Given the description of an element on the screen output the (x, y) to click on. 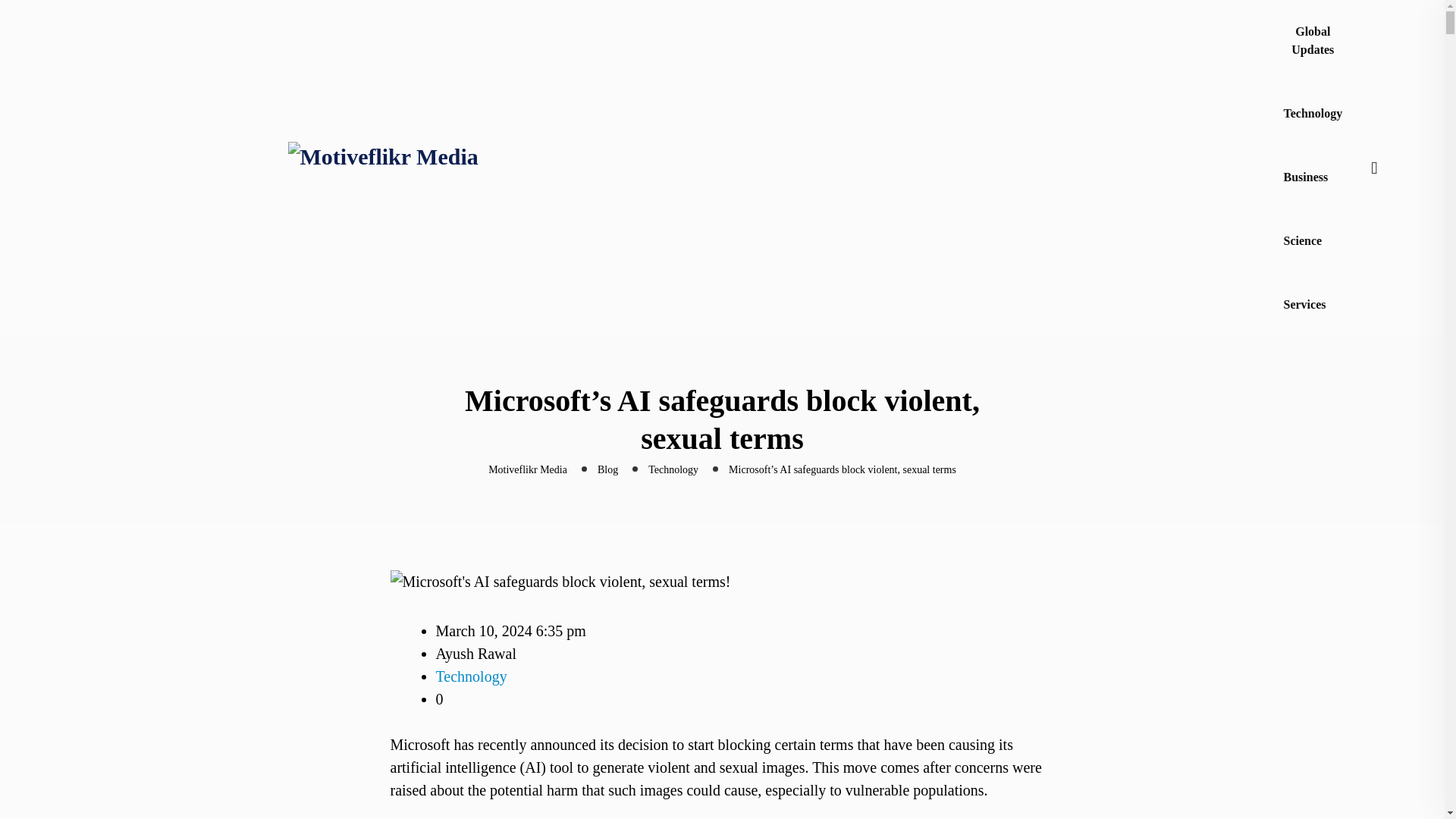
Technology (1313, 113)
Go to Motiveflikr Media. (527, 469)
Global Updates (1313, 40)
Business (1306, 177)
Technology (672, 469)
Microsoft's AI safeguards block violent, sexual terms (560, 581)
Technology (470, 676)
Services (1305, 304)
Go to the Technology Category archives. (672, 469)
Go to Blog. (606, 469)
Motiveflikr Media (527, 469)
Blog (606, 469)
Science (1303, 240)
